Given the description of an element on the screen output the (x, y) to click on. 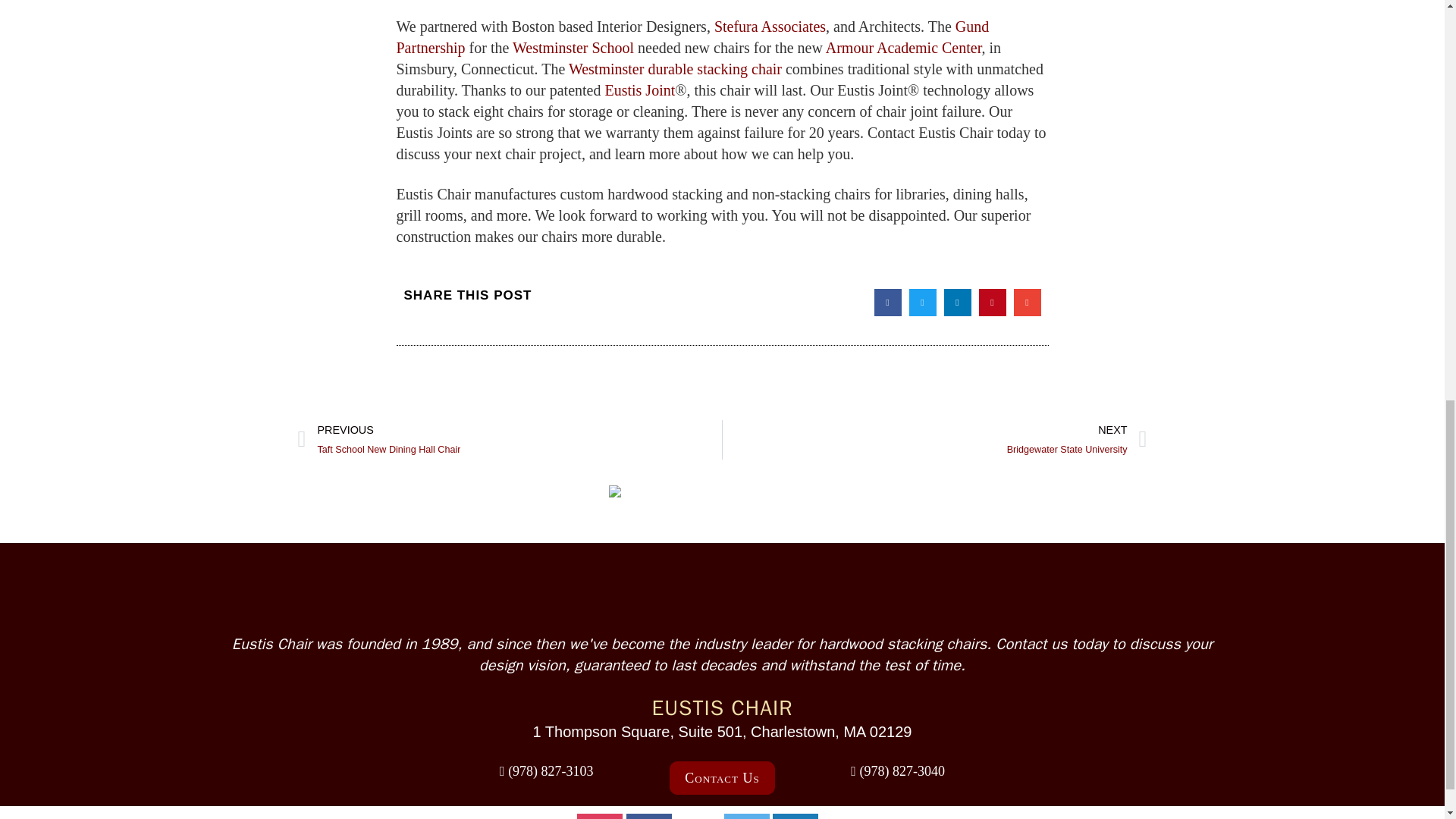
Eustis Joint - Eustis Enterprises Inc (639, 89)
www.stefura.com (769, 26)
Chair: Westminster Stack; Stacking Hardwood - Eustis Chair (675, 68)
